Given the description of an element on the screen output the (x, y) to click on. 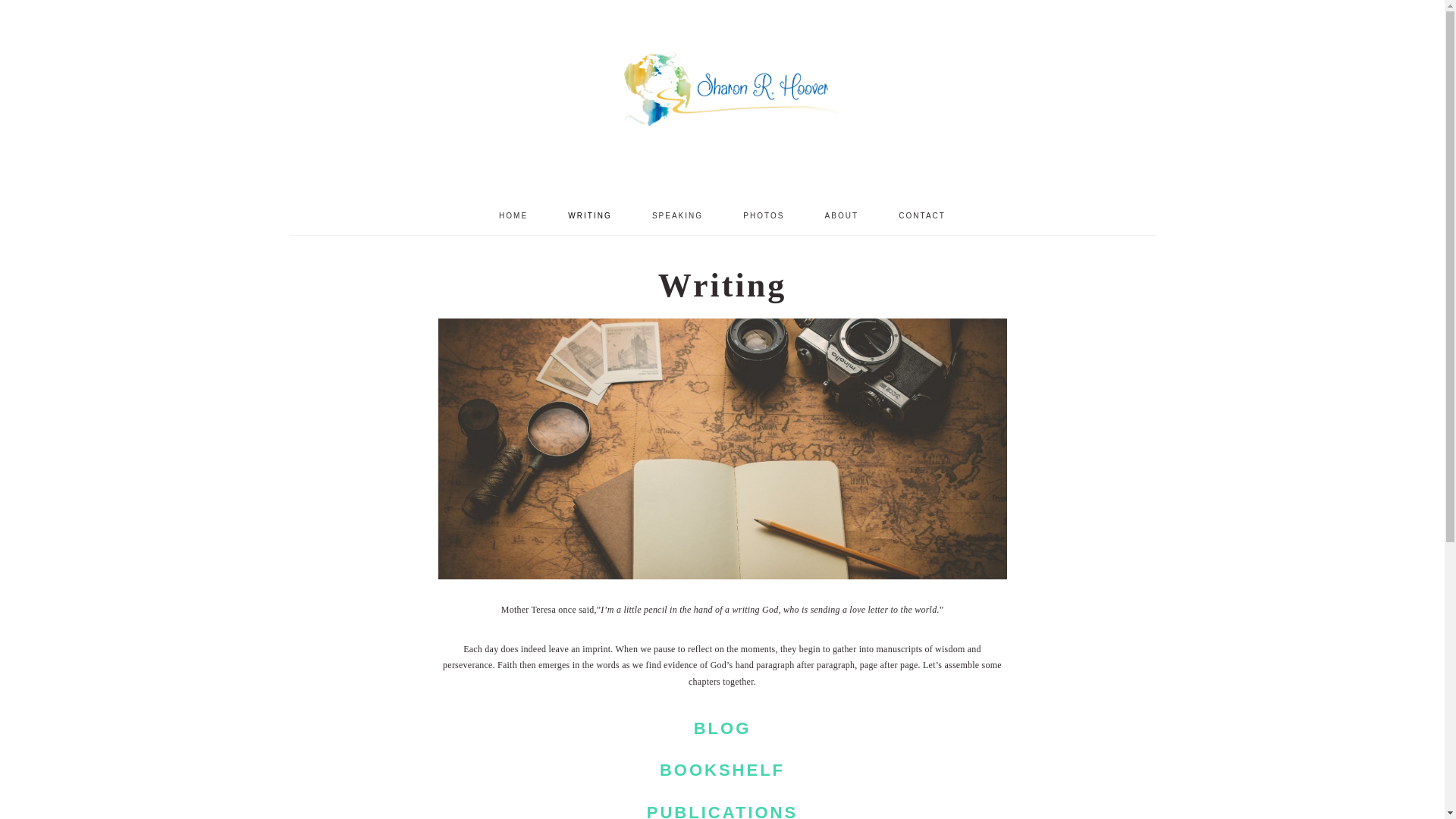
PUBLICATIONS (721, 811)
SPEAKING (677, 216)
BLOG (722, 728)
ABOUT (841, 216)
SHARON R HOOVER (721, 98)
HOME (513, 216)
BOOKSHELF (721, 769)
CONTACT (921, 216)
WRITING (589, 216)
PHOTOS (763, 216)
